Given the description of an element on the screen output the (x, y) to click on. 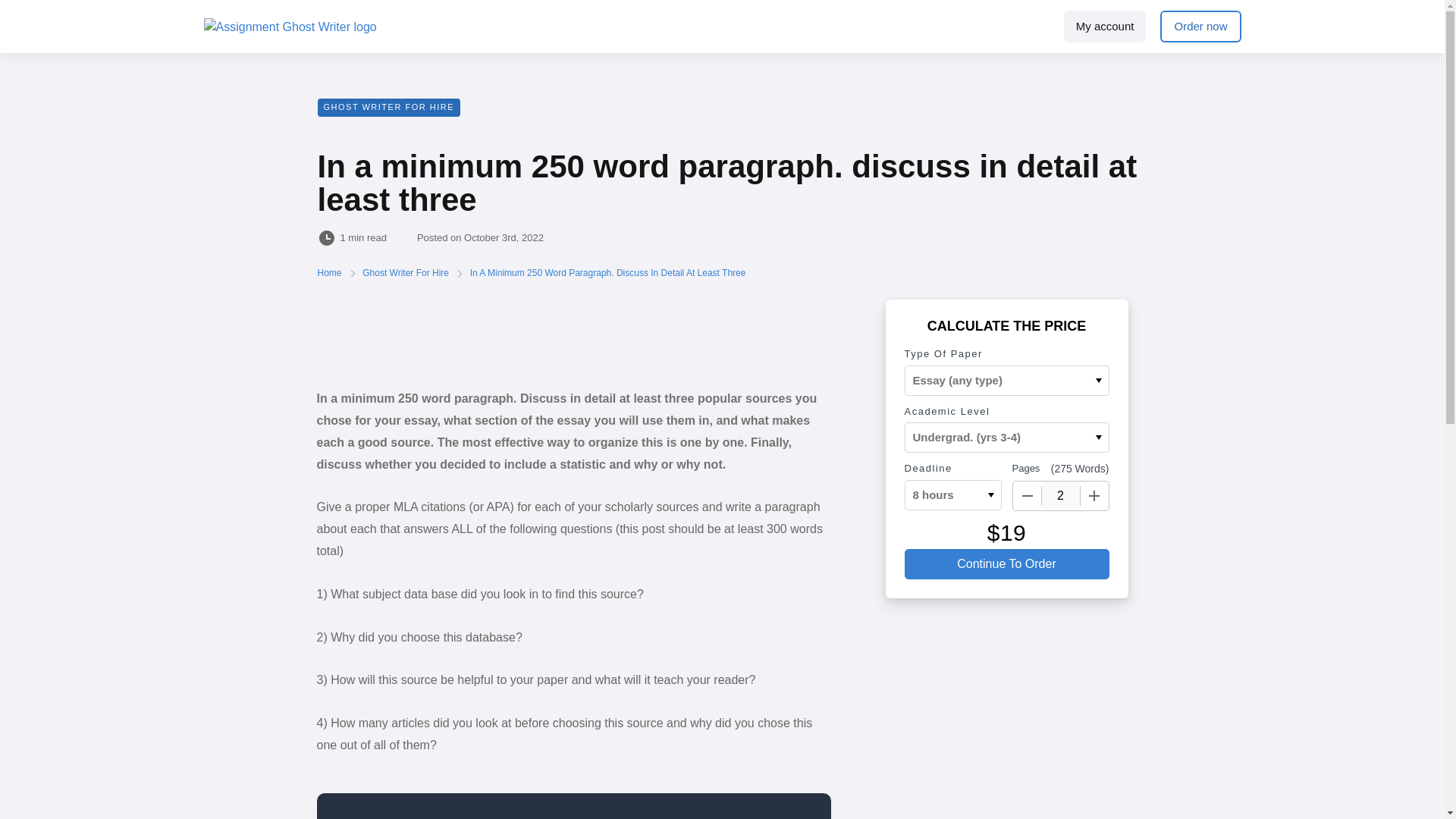
Increase (1094, 495)
Ghost Writer For Hire (406, 272)
My account (1105, 26)
Continue to order (1006, 563)
Continue to order (1006, 563)
Home (330, 272)
2 (1061, 495)
GHOST WRITER FOR HIRE (388, 107)
Order now (1200, 26)
Decrease (1027, 495)
